Given the description of an element on the screen output the (x, y) to click on. 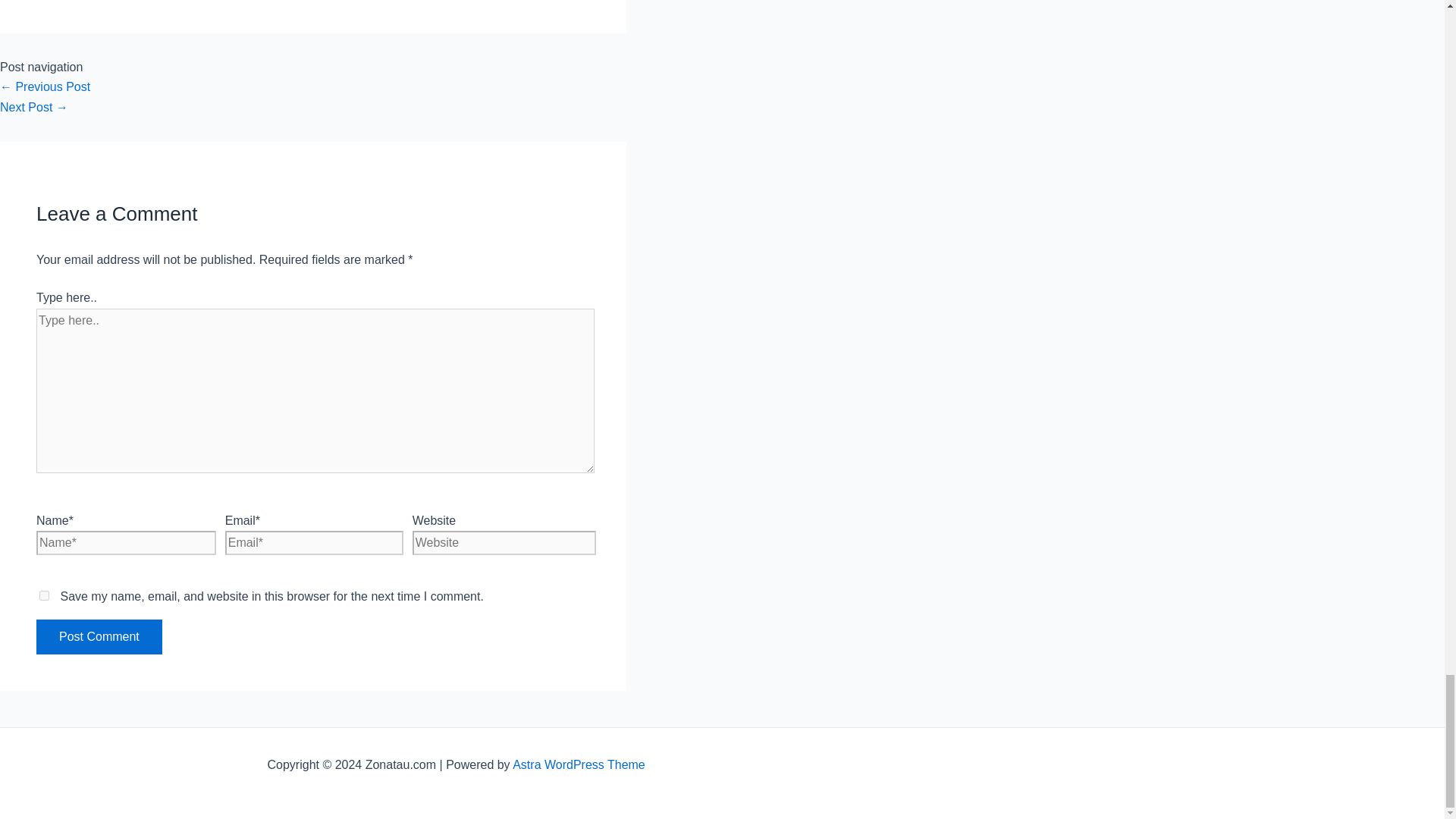
Post Comment (98, 636)
Post Comment (98, 636)
yes (44, 595)
Can Chickens Eat Coleslaw Mix? Understanding Poultry Diets (34, 106)
Do Chickens Eat Pine Needles? Your Poultry Feeding Guide (45, 86)
Astra WordPress Theme (578, 764)
